Given the description of an element on the screen output the (x, y) to click on. 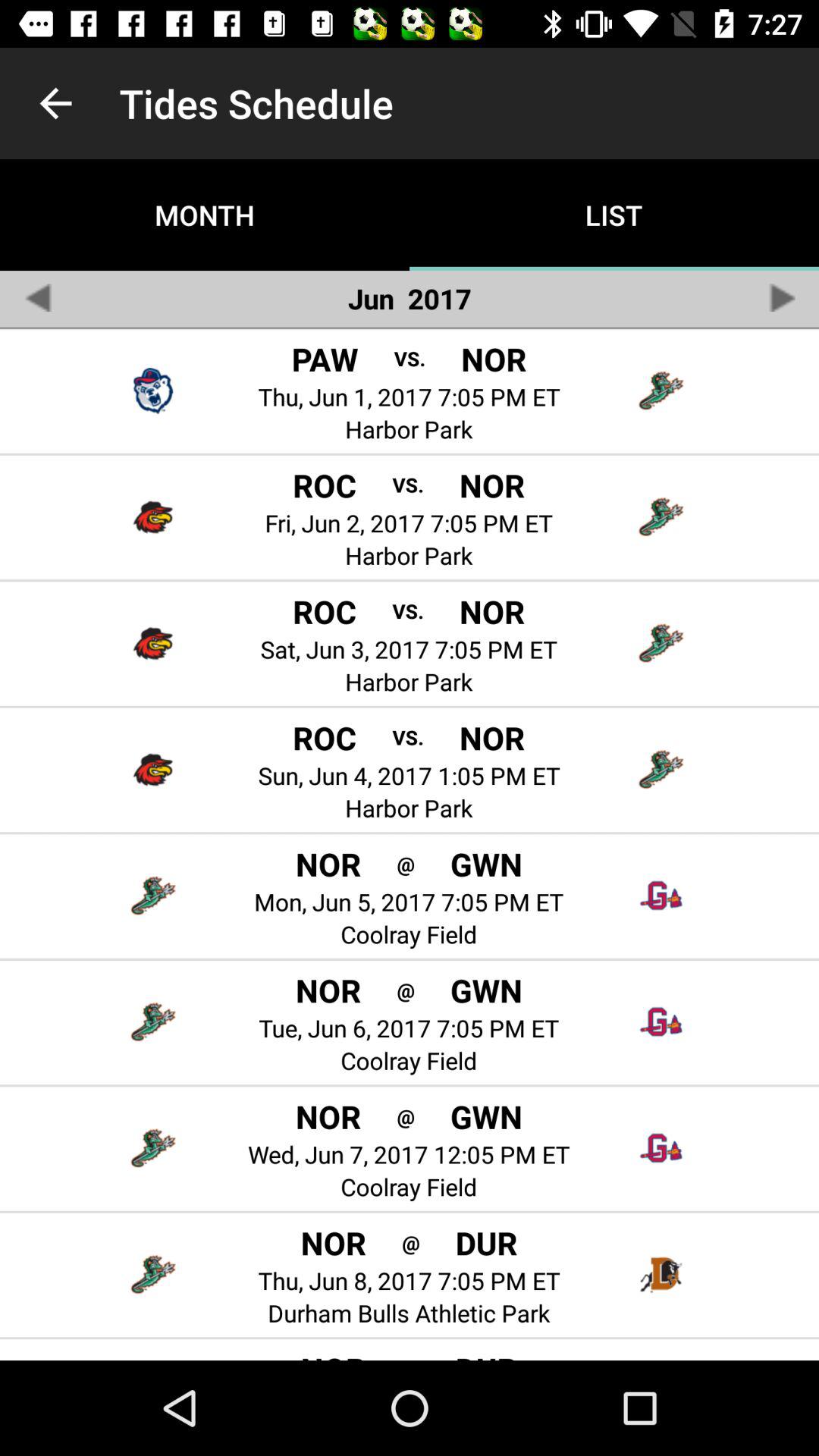
select the item below the durham bulls athletic (410, 1357)
